Given the description of an element on the screen output the (x, y) to click on. 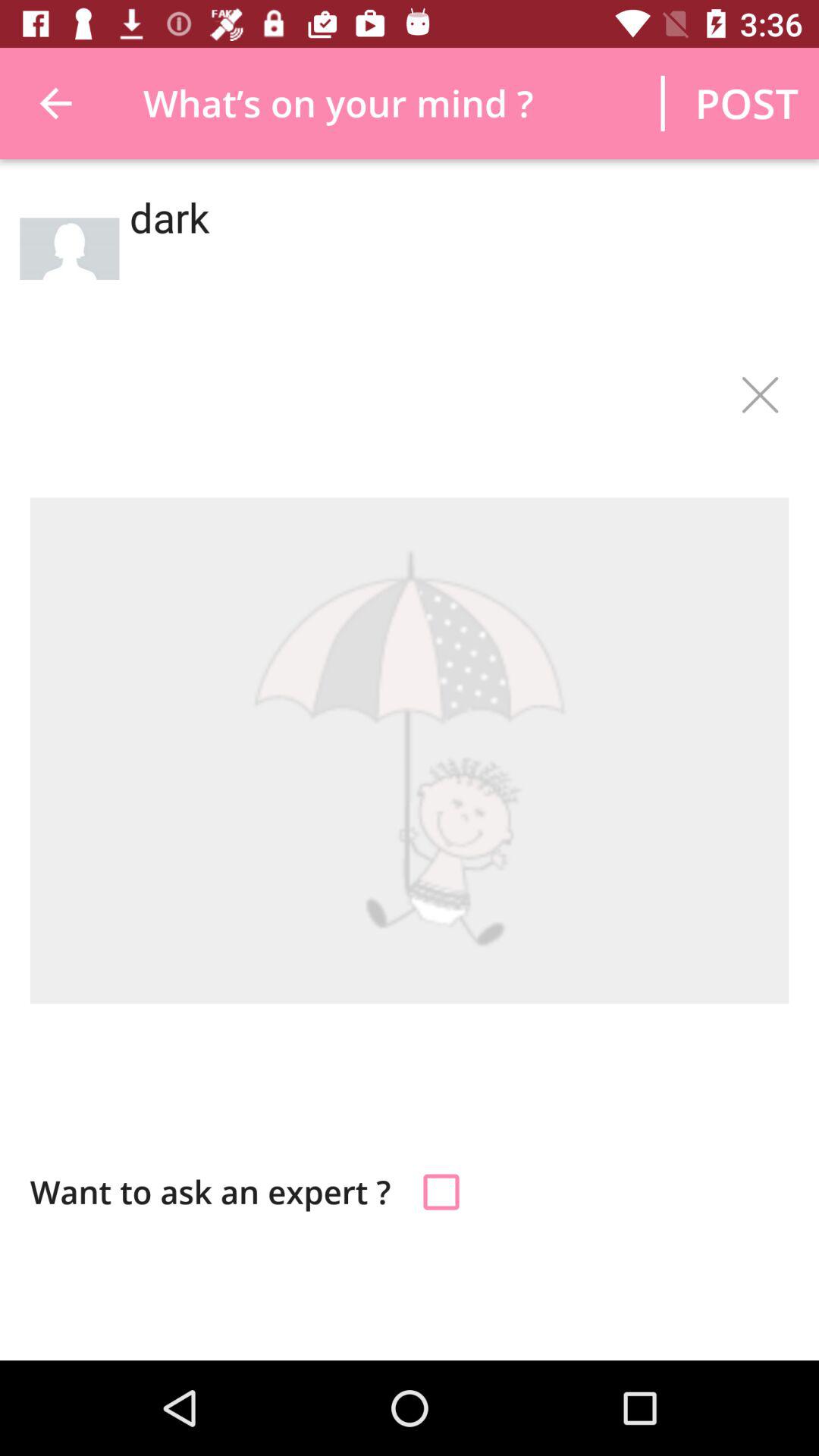
connect to expert (441, 1191)
